Given the description of an element on the screen output the (x, y) to click on. 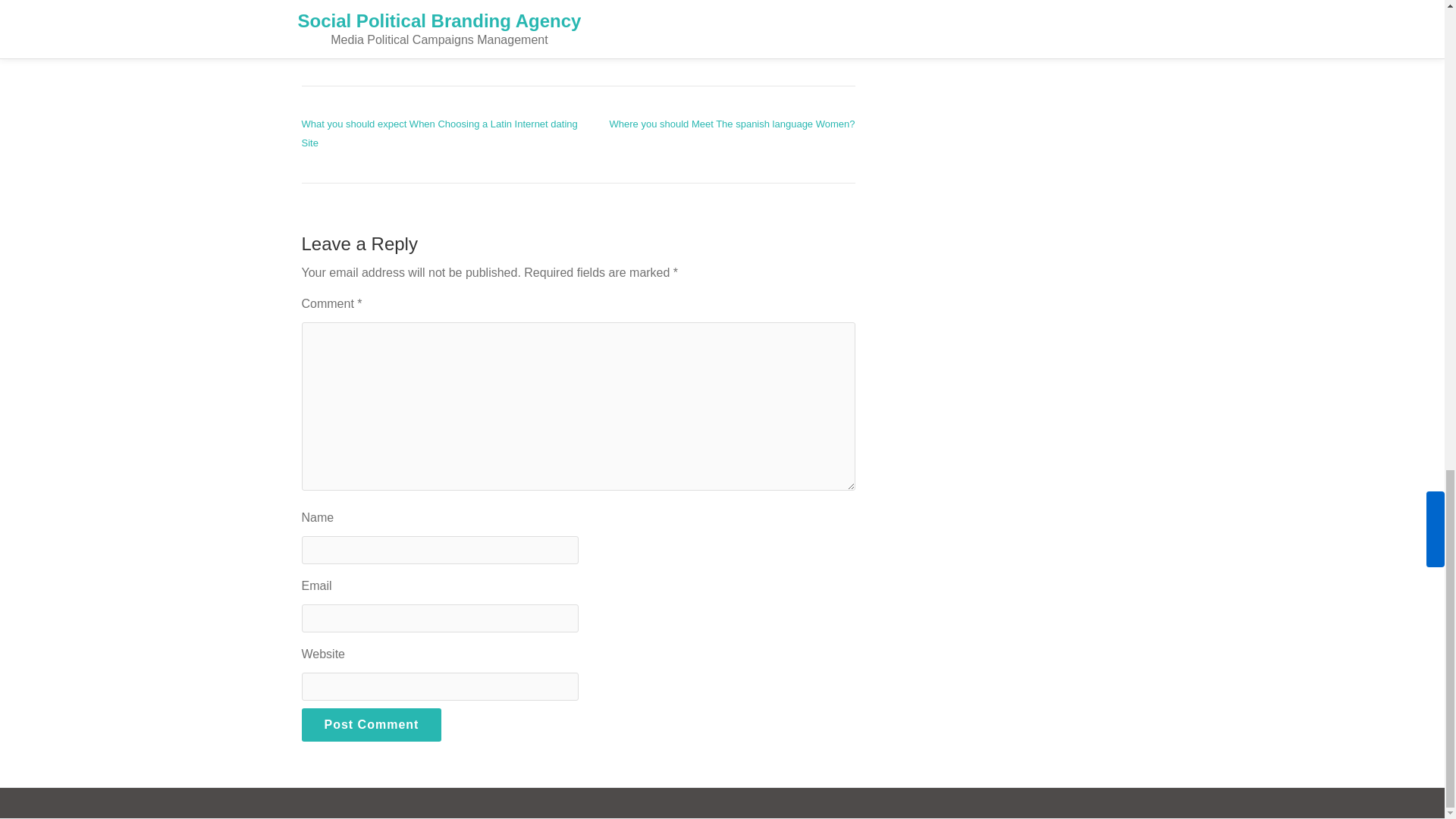
Uncategorized (401, 45)
Post Comment (371, 725)
Where you should Meet The spanish language Women? (733, 123)
Post Comment (371, 725)
